Given the description of an element on the screen output the (x, y) to click on. 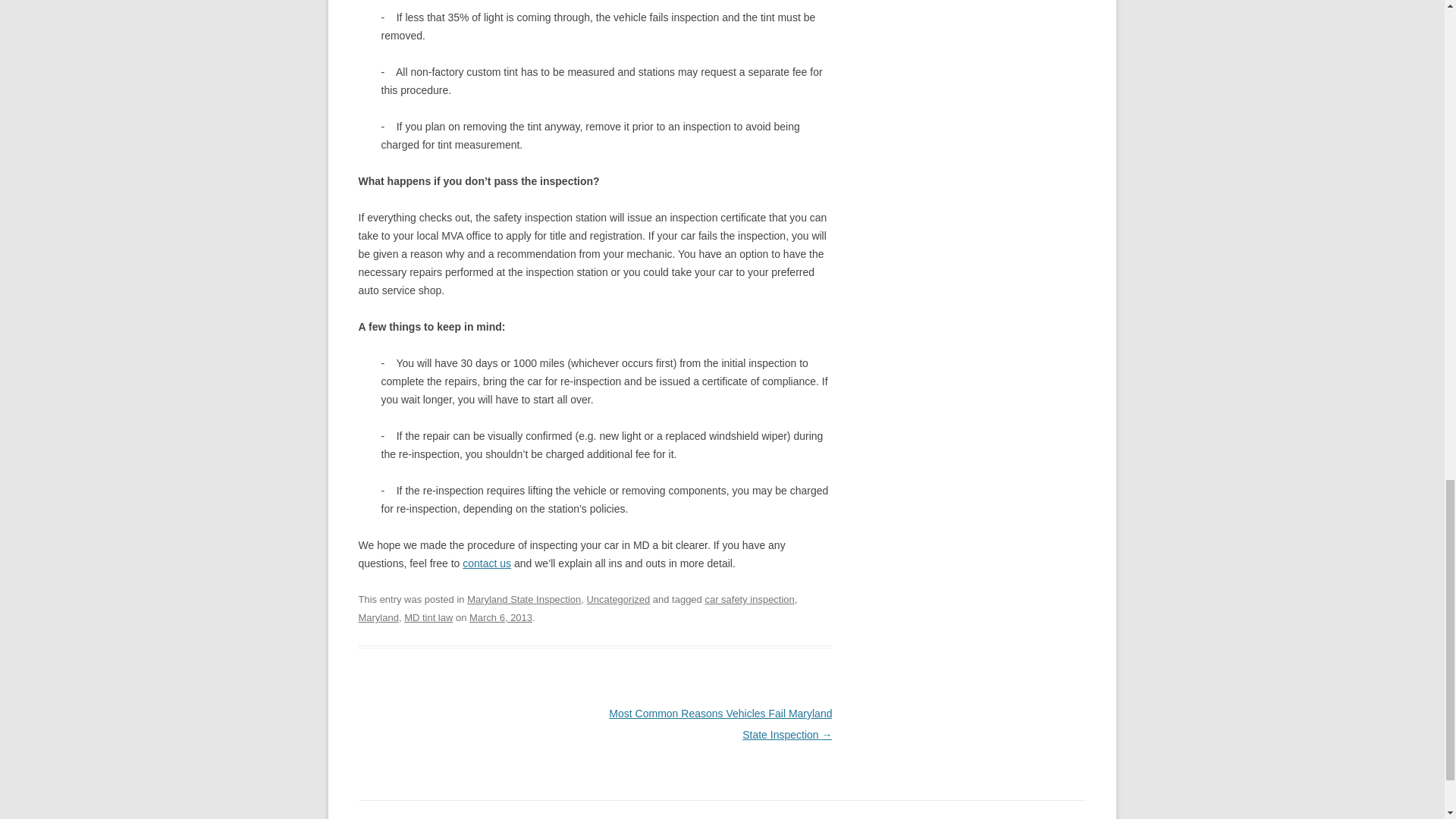
car safety inspection (748, 599)
contact us (487, 563)
MD tint law (428, 617)
Maryland (377, 617)
5:53 pm (500, 617)
March 6, 2013 (500, 617)
Uncategorized (617, 599)
View all posts in Uncategorized (617, 599)
View all posts in Maryland State Inspection (523, 599)
Maryland State Inspection (523, 599)
